Given the description of an element on the screen output the (x, y) to click on. 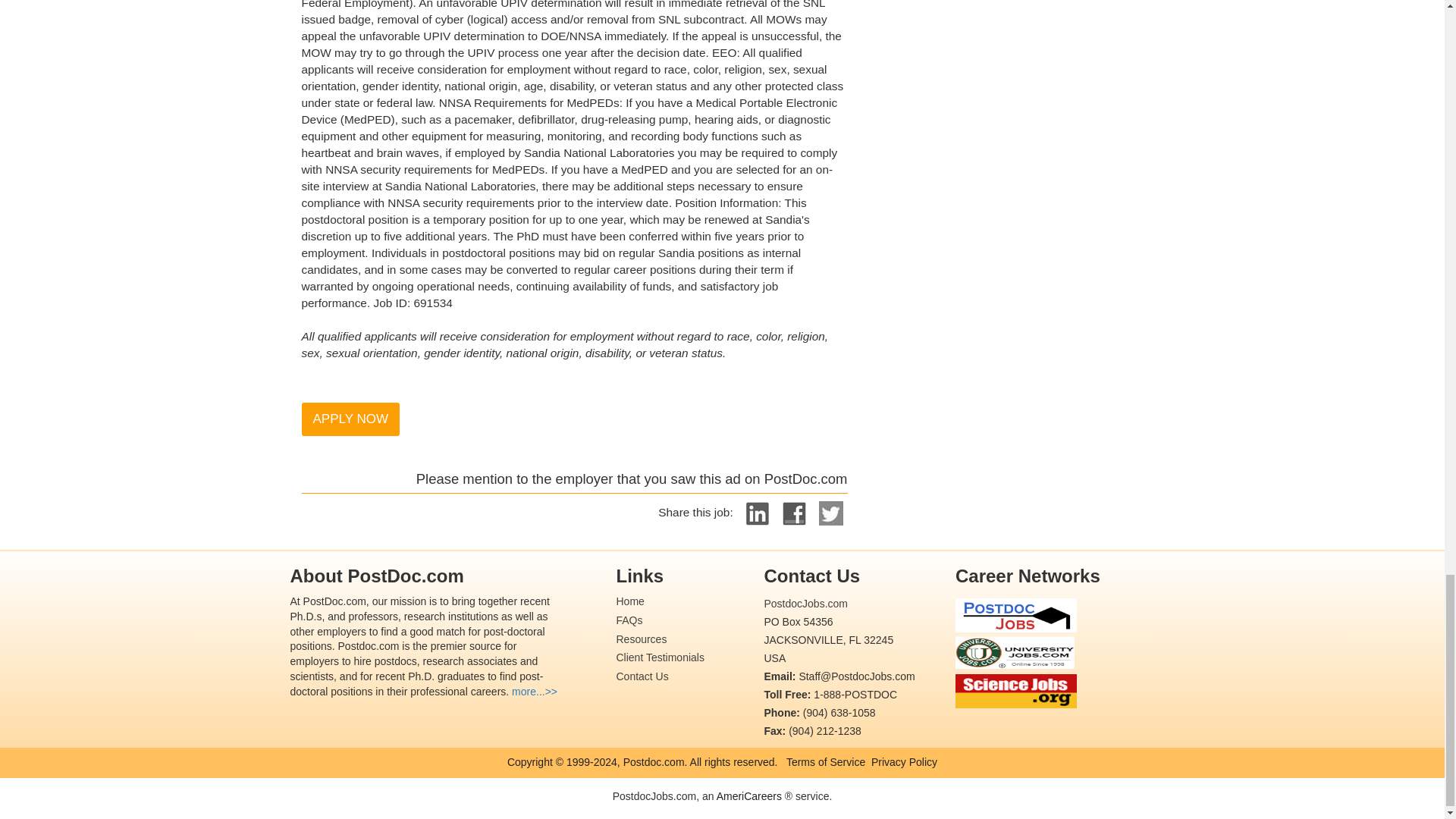
Client Testimonials (659, 657)
Postdoc.com. (653, 761)
PostdocJobs.com (804, 603)
Resources (640, 638)
Privacy Policy (903, 761)
FAQs (628, 620)
Home (629, 601)
Terms of Service (825, 761)
Contact Us (641, 676)
APPLY NOW (350, 418)
AmeriCareers (748, 796)
